Given the description of an element on the screen output the (x, y) to click on. 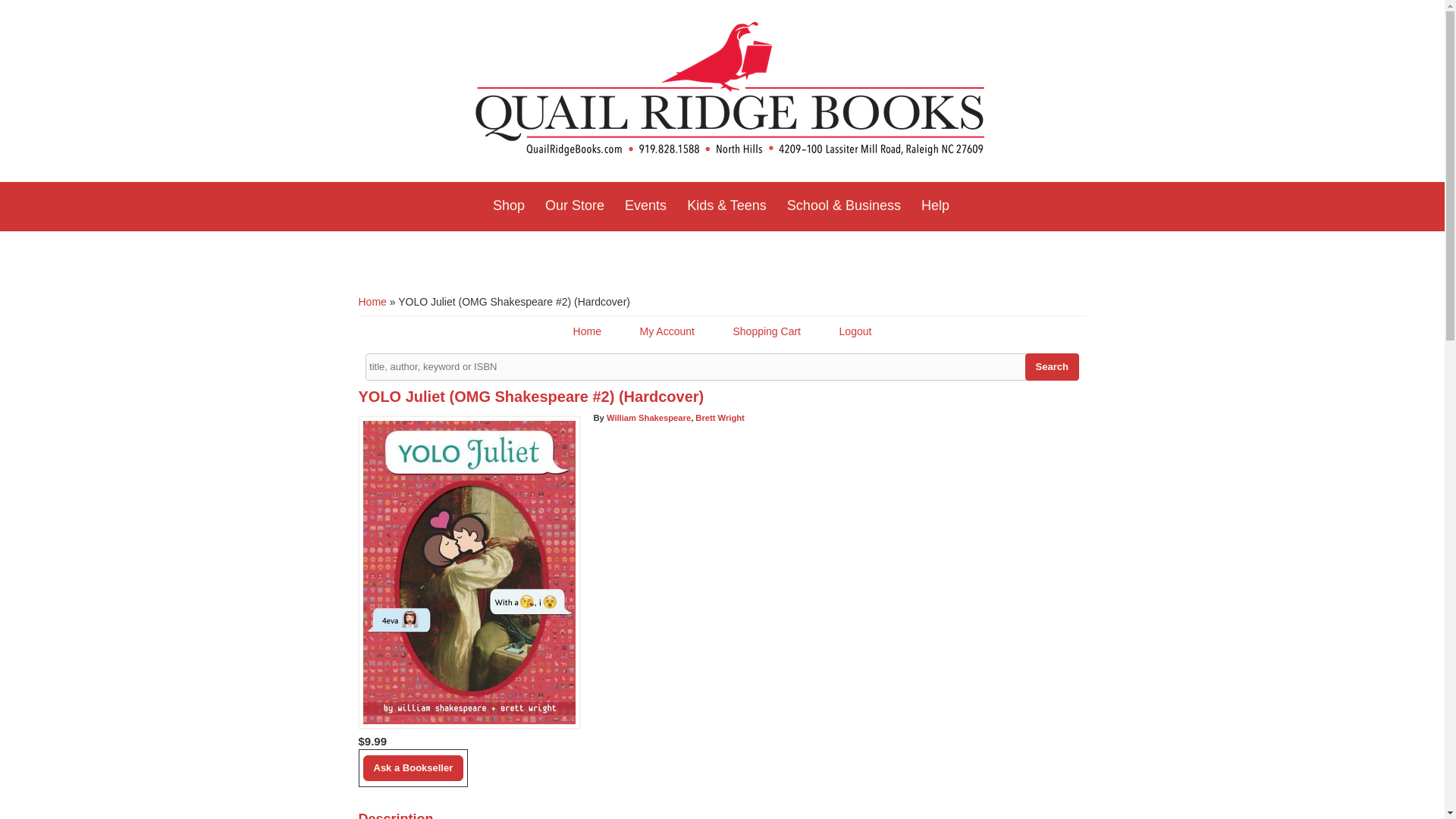
Ask a Bookseller (412, 768)
Help (935, 205)
Search (1051, 366)
Home (729, 90)
Shop (508, 205)
Events (645, 205)
Our Store (573, 205)
